Given the description of an element on the screen output the (x, y) to click on. 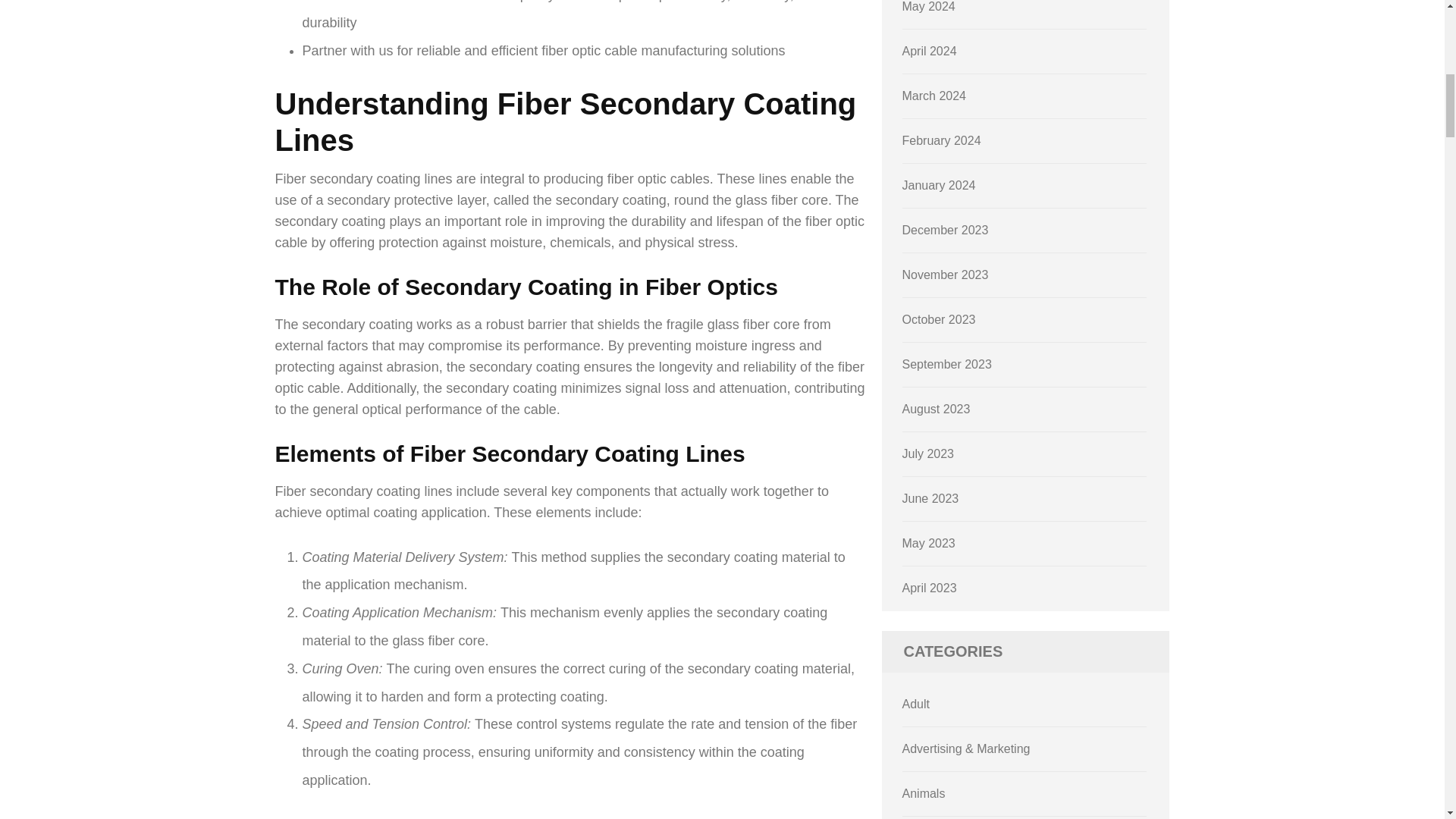
December 2023 (945, 229)
July 2023 (928, 453)
September 2023 (946, 364)
August 2023 (936, 408)
January 2024 (938, 185)
April 2024 (929, 51)
April 2023 (929, 587)
March 2024 (934, 95)
May 2024 (928, 6)
May 2023 (928, 543)
